Given the description of an element on the screen output the (x, y) to click on. 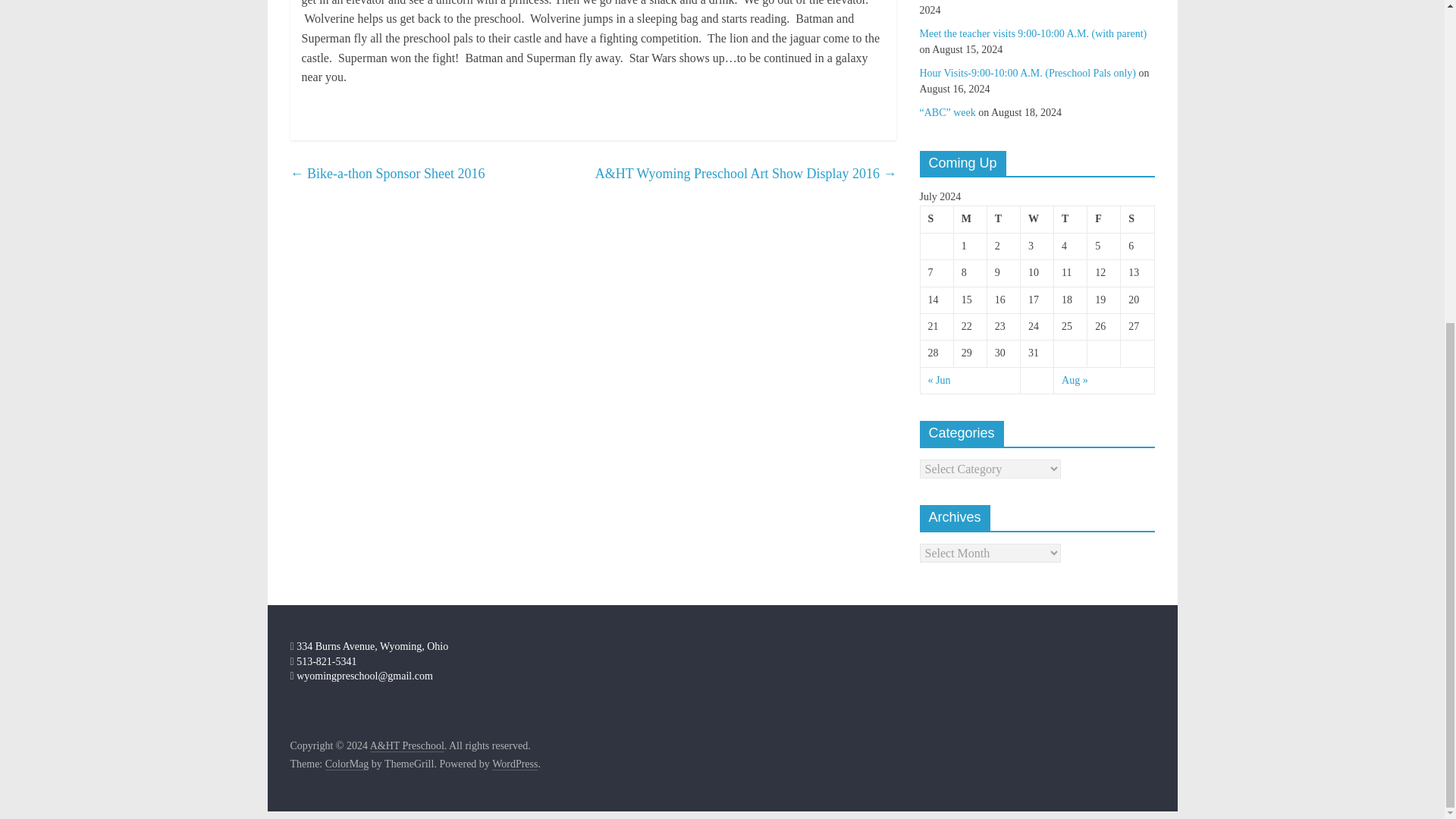
Wednesday (1036, 219)
Thursday (1070, 219)
ColorMag (346, 764)
Sunday (936, 219)
Monday (970, 219)
Tuesday (1003, 219)
Previous month (939, 379)
Saturday (1137, 219)
WordPress (514, 764)
Friday (1104, 219)
513-821-5341 (322, 661)
334 Burns Avenue, Wyoming, Ohio (368, 645)
